Given the description of an element on the screen output the (x, y) to click on. 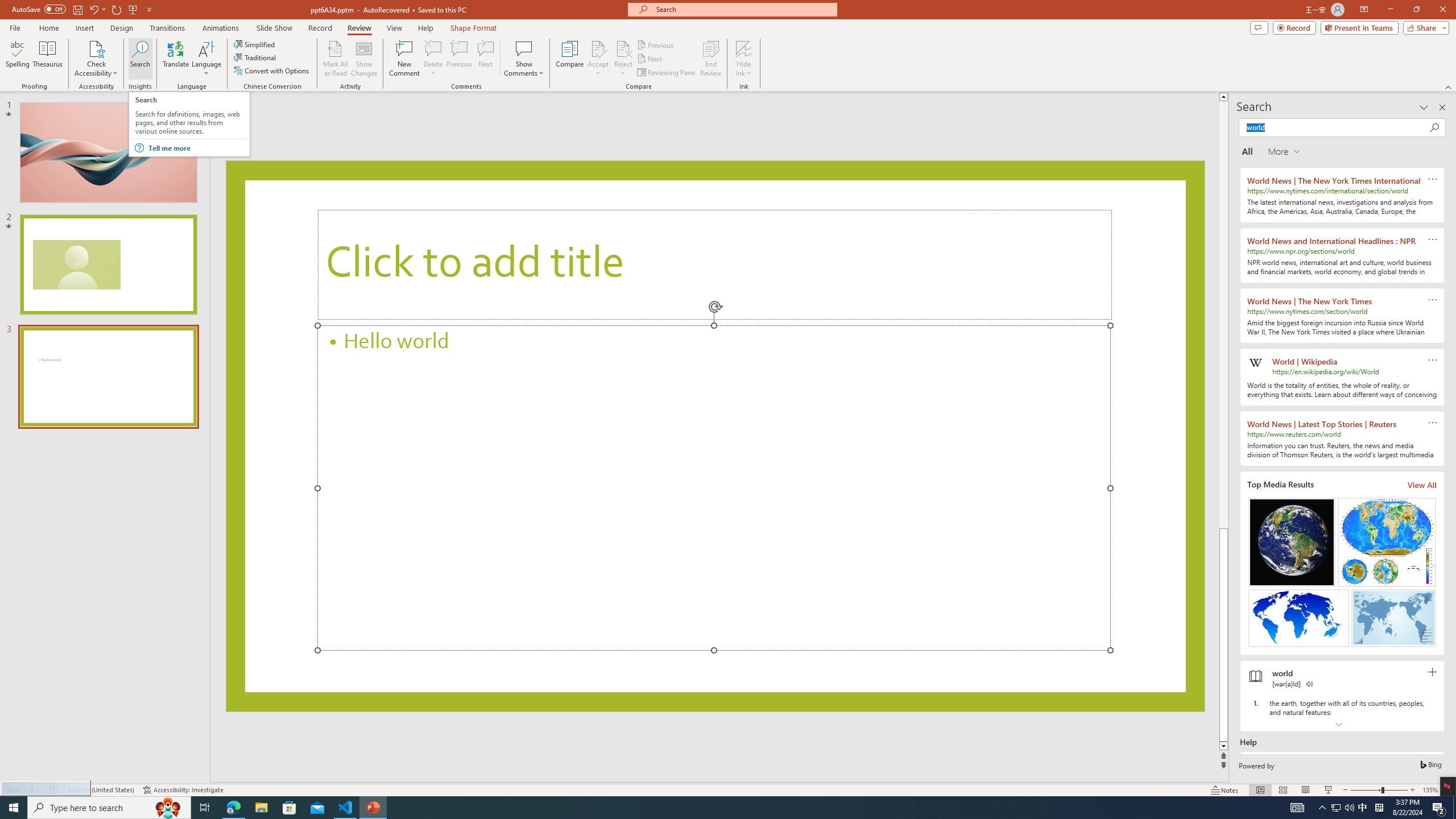
Translate (175, 58)
Reviewing Pane (666, 72)
Tell me more (197, 148)
Reject Change (622, 48)
Language (206, 58)
Delete (432, 58)
Show Changes (363, 58)
